Given the description of an element on the screen output the (x, y) to click on. 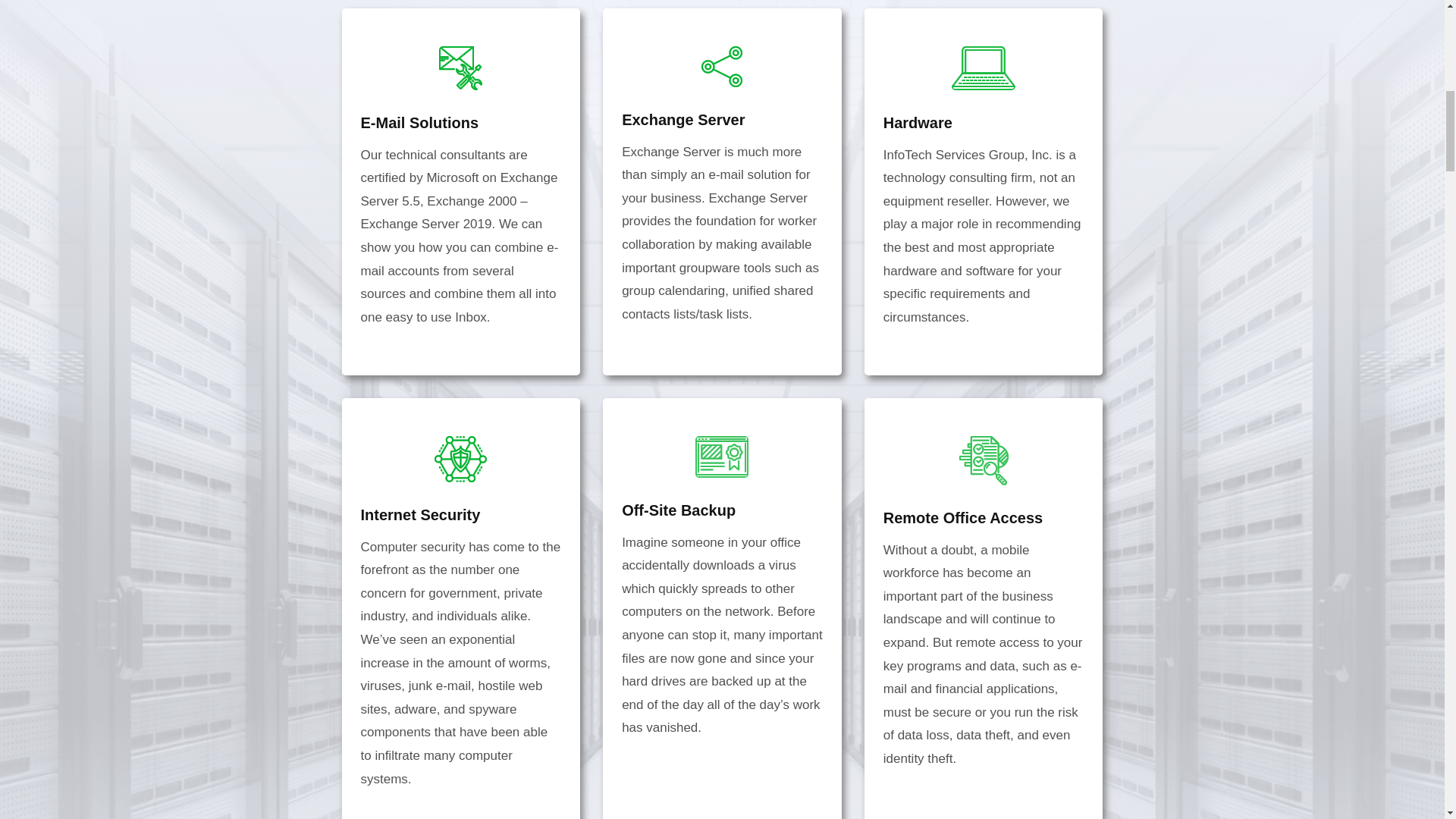
Off-Site Backup (678, 510)
Exchange Server (682, 119)
Remote Office Access (962, 517)
Internet Security (420, 514)
E-Mail Solutions (420, 122)
Hardware (917, 122)
